Given the description of an element on the screen output the (x, y) to click on. 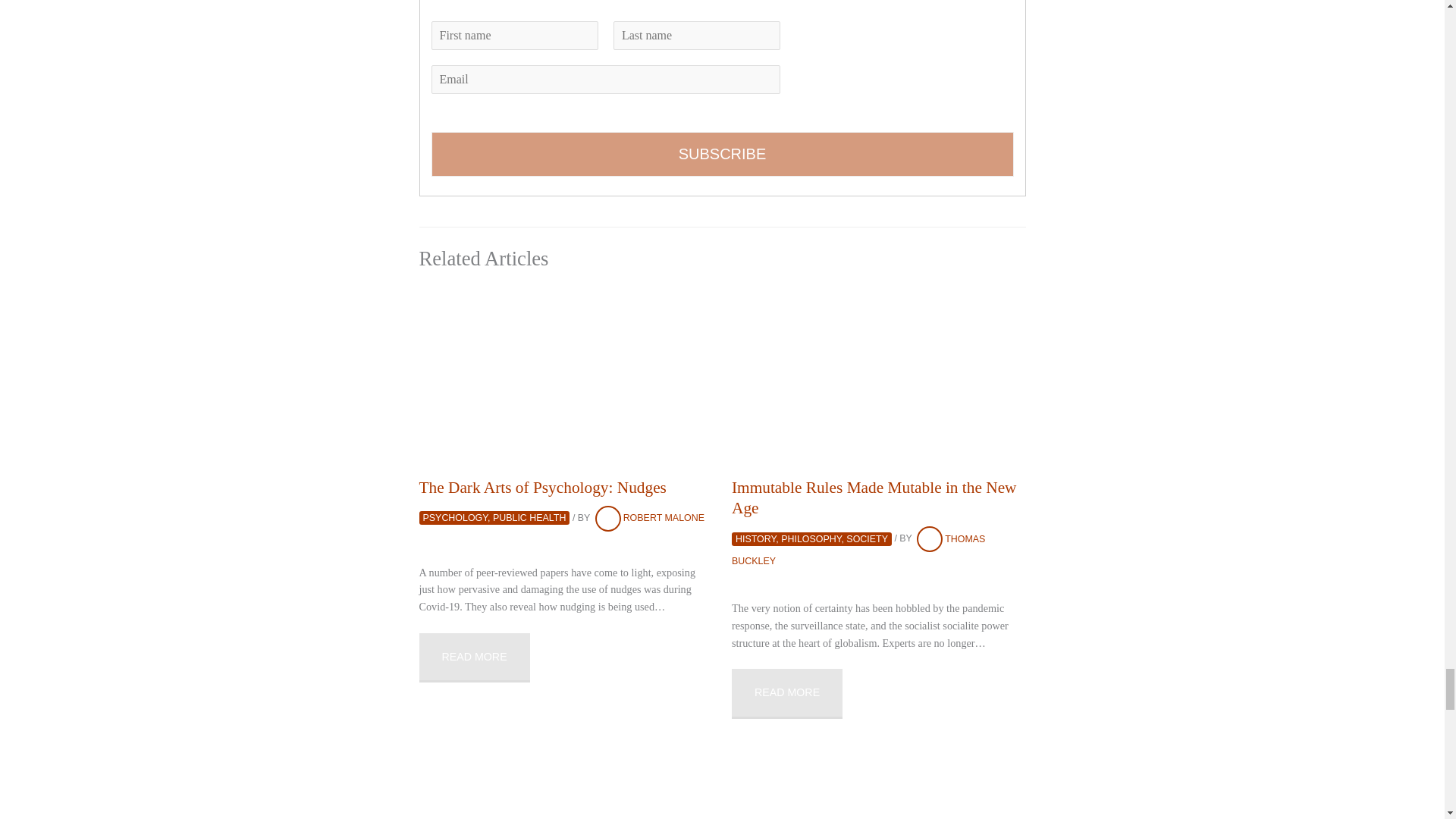
View all posts by Robert Malone (648, 517)
View all posts by Thomas Buckley (858, 550)
